Given the description of an element on the screen output the (x, y) to click on. 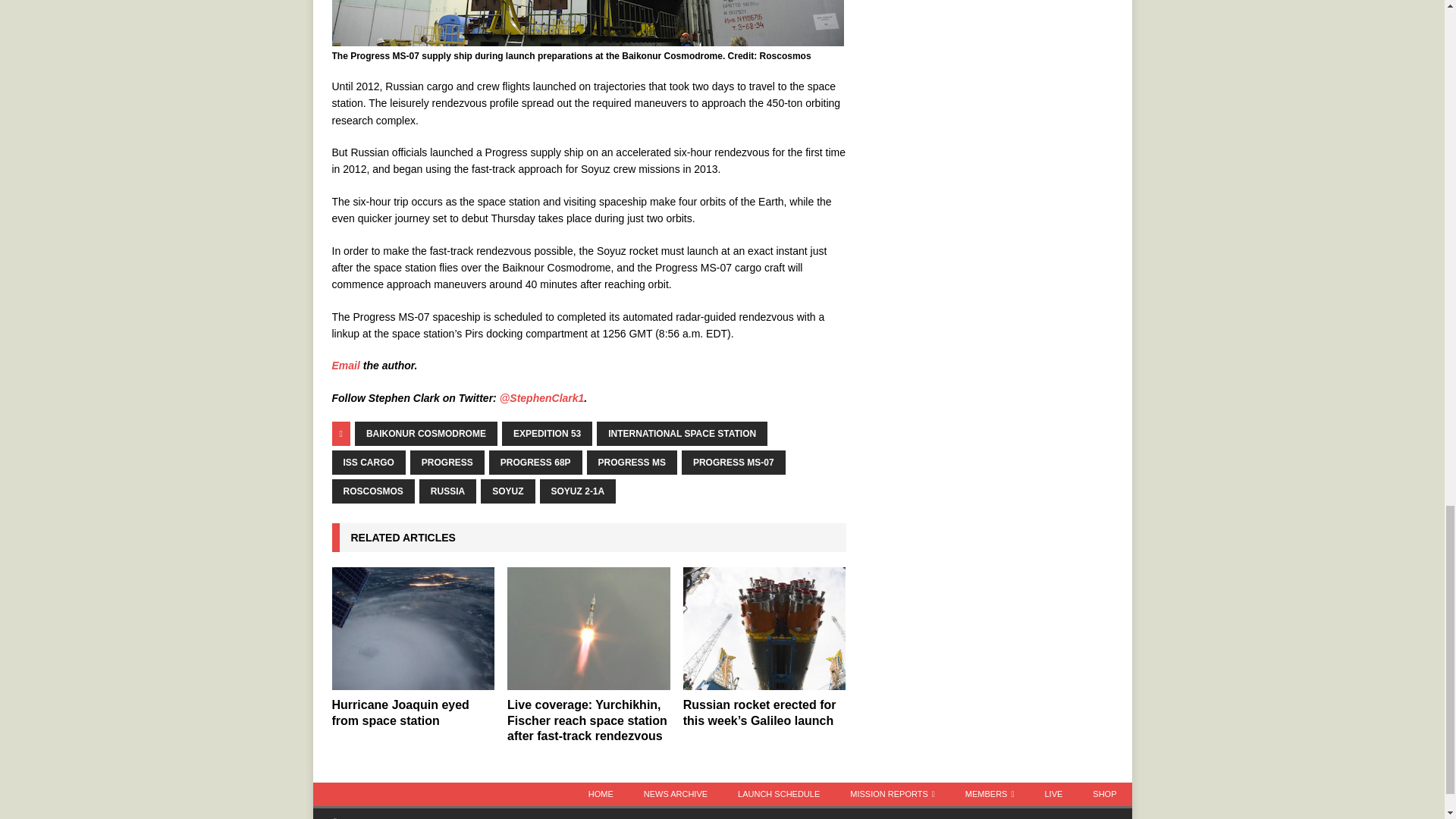
Hurricane Joaquin eyed from space station (399, 712)
Hurricane Joaquin eyed from space station (413, 628)
